Given the description of an element on the screen output the (x, y) to click on. 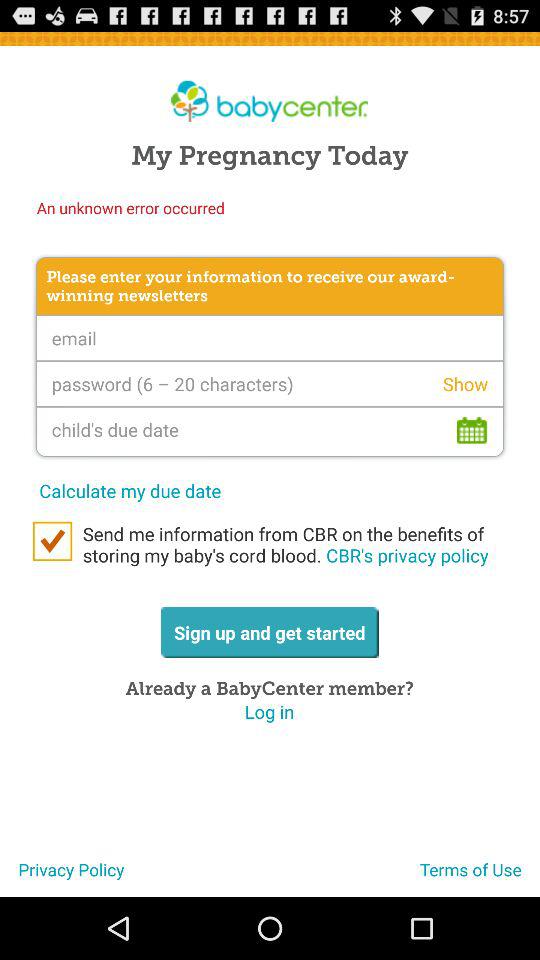
interactive calendar (270, 431)
